Given the description of an element on the screen output the (x, y) to click on. 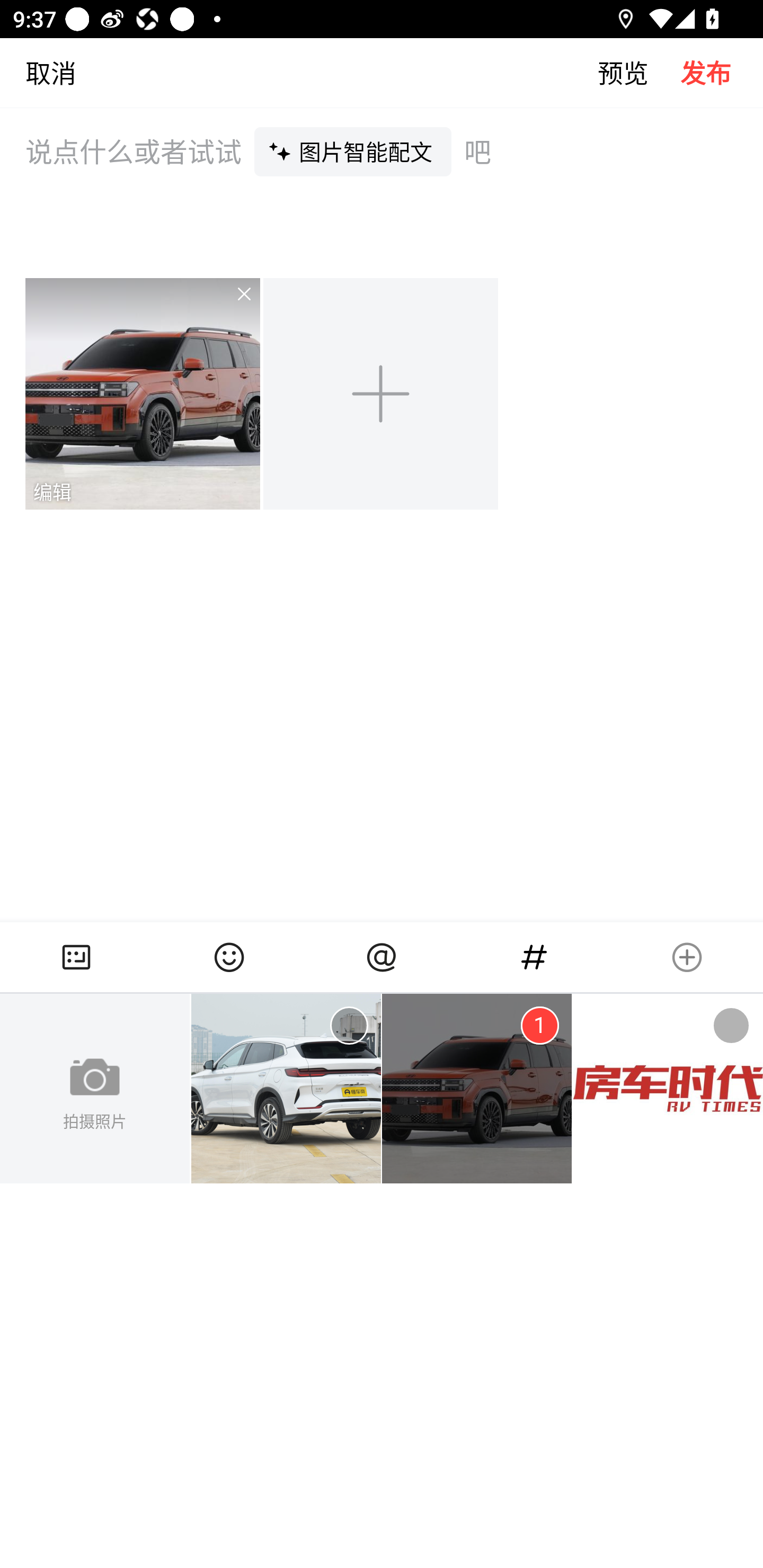
取消 (38, 71)
预览 (638, 71)
发布 (721, 71)
图片智能配文 (352, 151)
图片1，可编辑 移除 编辑 (144, 393)
添加图片 (382, 393)
移除 (231, 306)
相册 (76, 956)
表情 (228, 956)
at (381, 956)
话题 (533, 956)
更多 (686, 956)
拍摄照片 (94, 1088)
图片1 (285, 1088)
未选中 (348, 1025)
图片2 (476, 1088)
已选中1 1 (539, 1025)
图片3 (668, 1088)
未选中 (731, 1025)
